Given the description of an element on the screen output the (x, y) to click on. 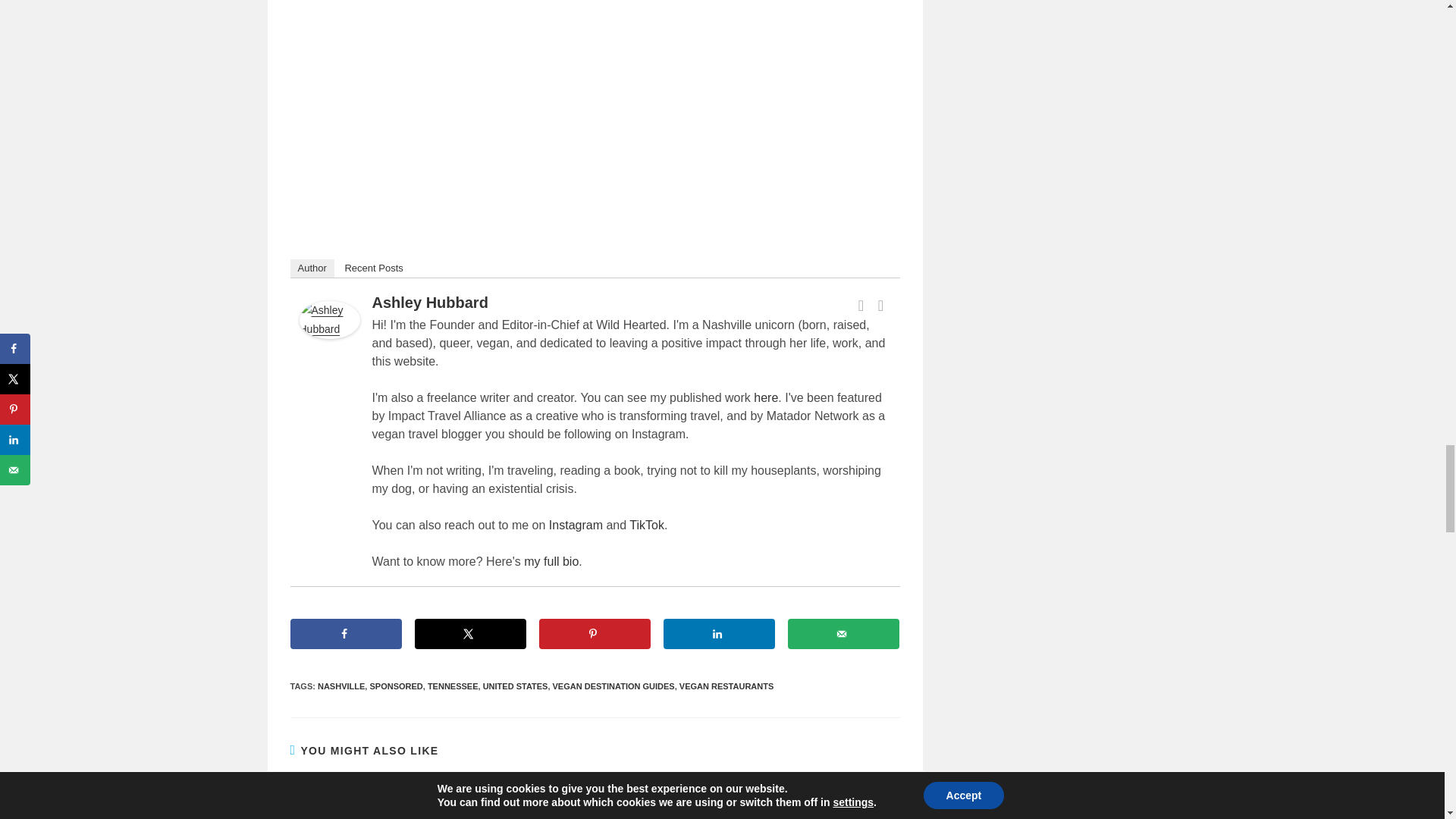
Save to Pinterest (594, 634)
Facebook (860, 305)
Ashley Hubbard (328, 318)
Share on Facebook (345, 634)
Share on X (469, 634)
Twitter (880, 305)
